Given the description of an element on the screen output the (x, y) to click on. 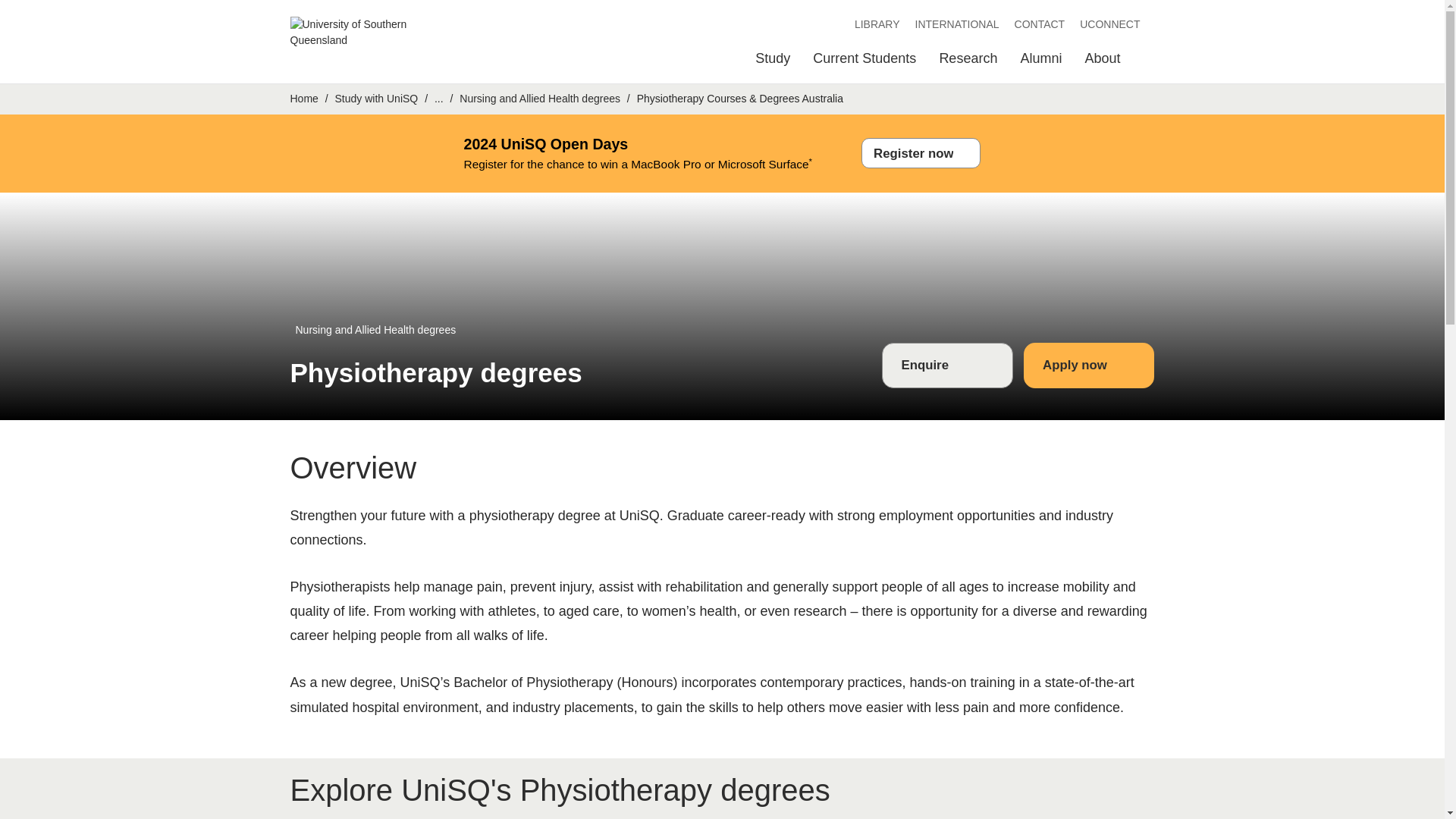
Current Students (864, 62)
Research (968, 62)
Study (773, 62)
